Given the description of an element on the screen output the (x, y) to click on. 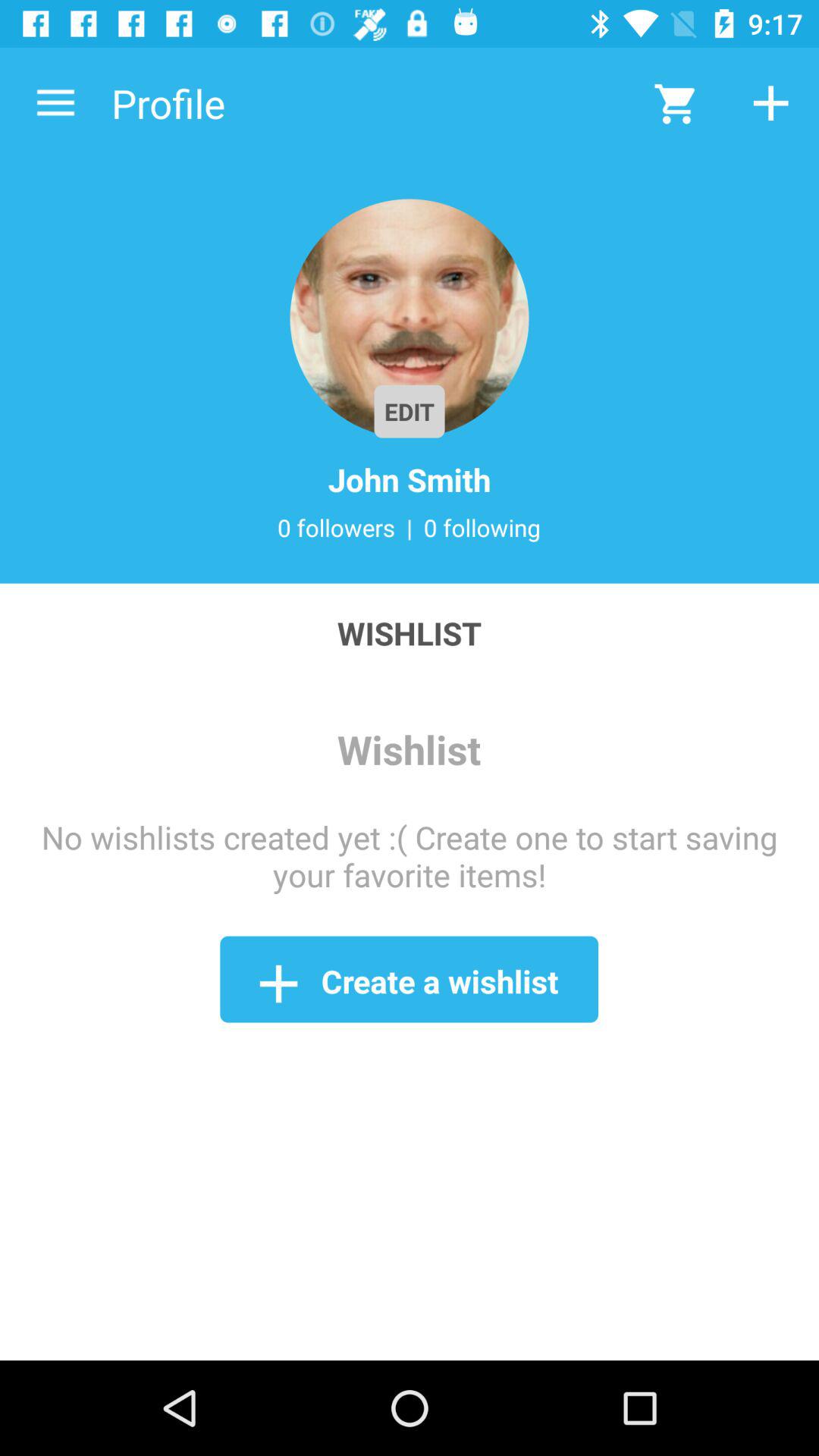
press icon above the 0 followers item (409, 479)
